Given the description of an element on the screen output the (x, y) to click on. 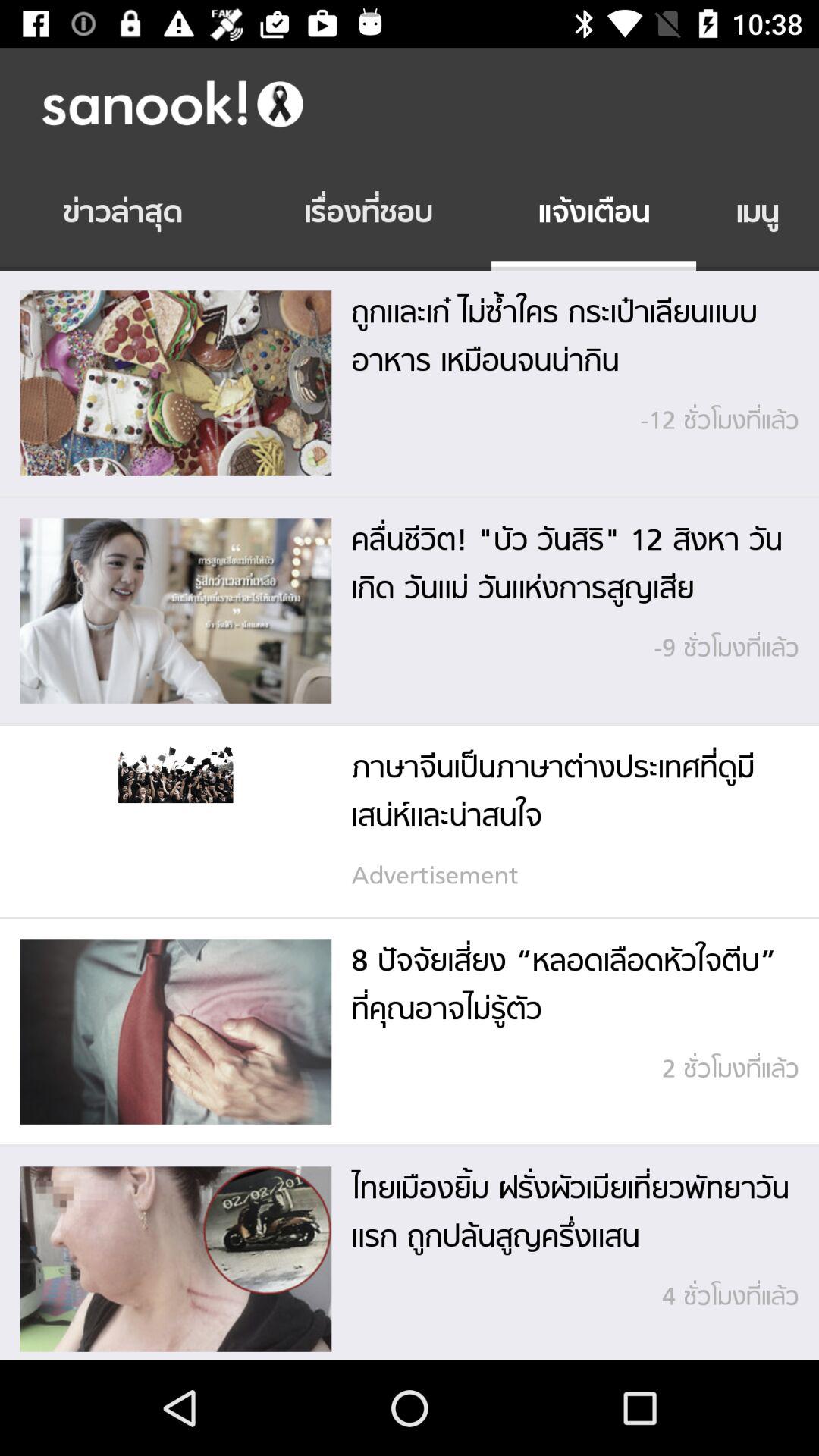
tap advertisement item (565, 876)
